Given the description of an element on the screen output the (x, y) to click on. 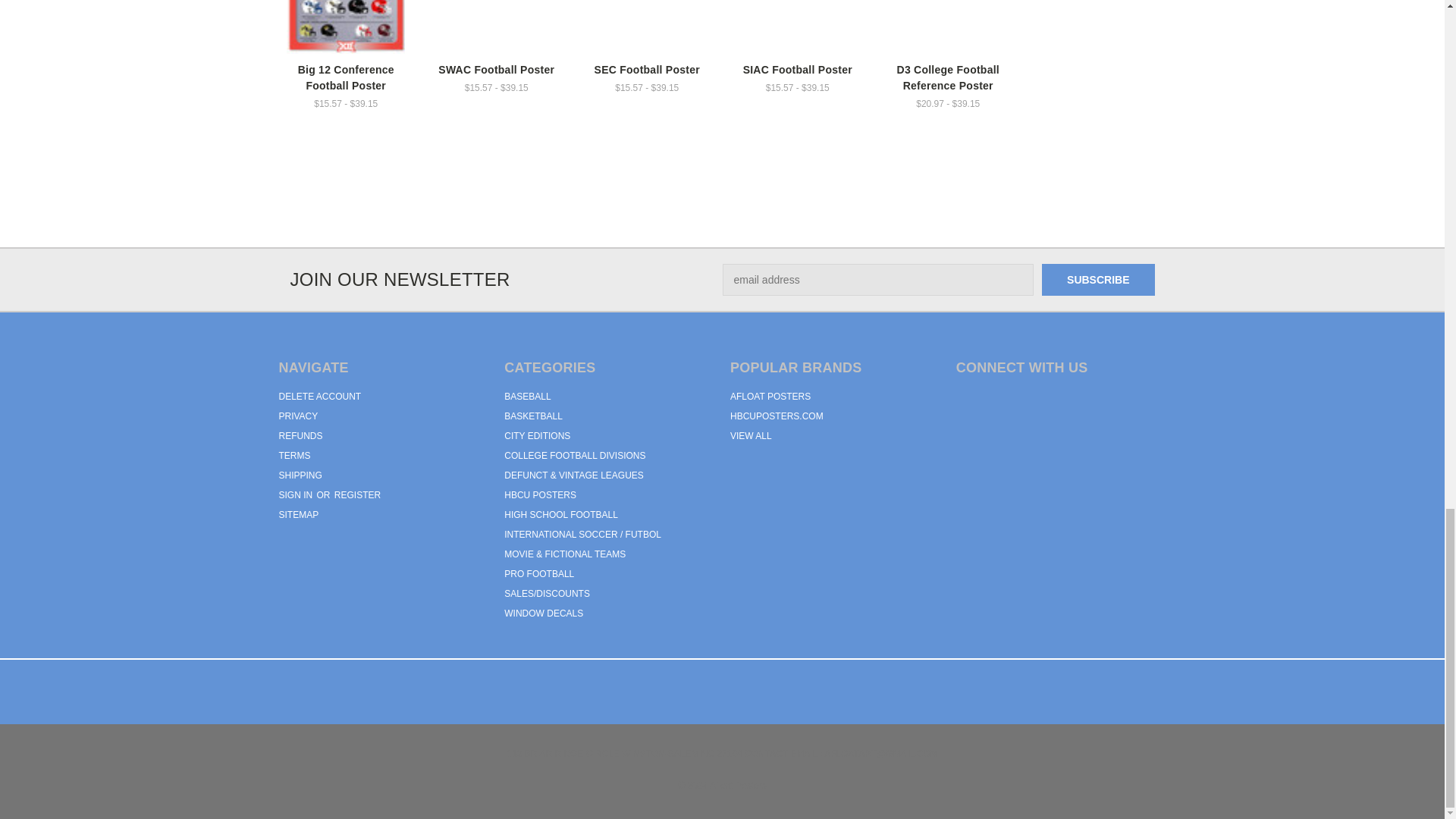
SWAC Football Poster (496, 27)
SEC Football Poster (646, 27)
Big 12 Conference Football Poster (346, 27)
D3 College Football Reference Poster (948, 27)
SIAC Football Poster (797, 27)
Subscribe (1098, 279)
